Given the description of an element on the screen output the (x, y) to click on. 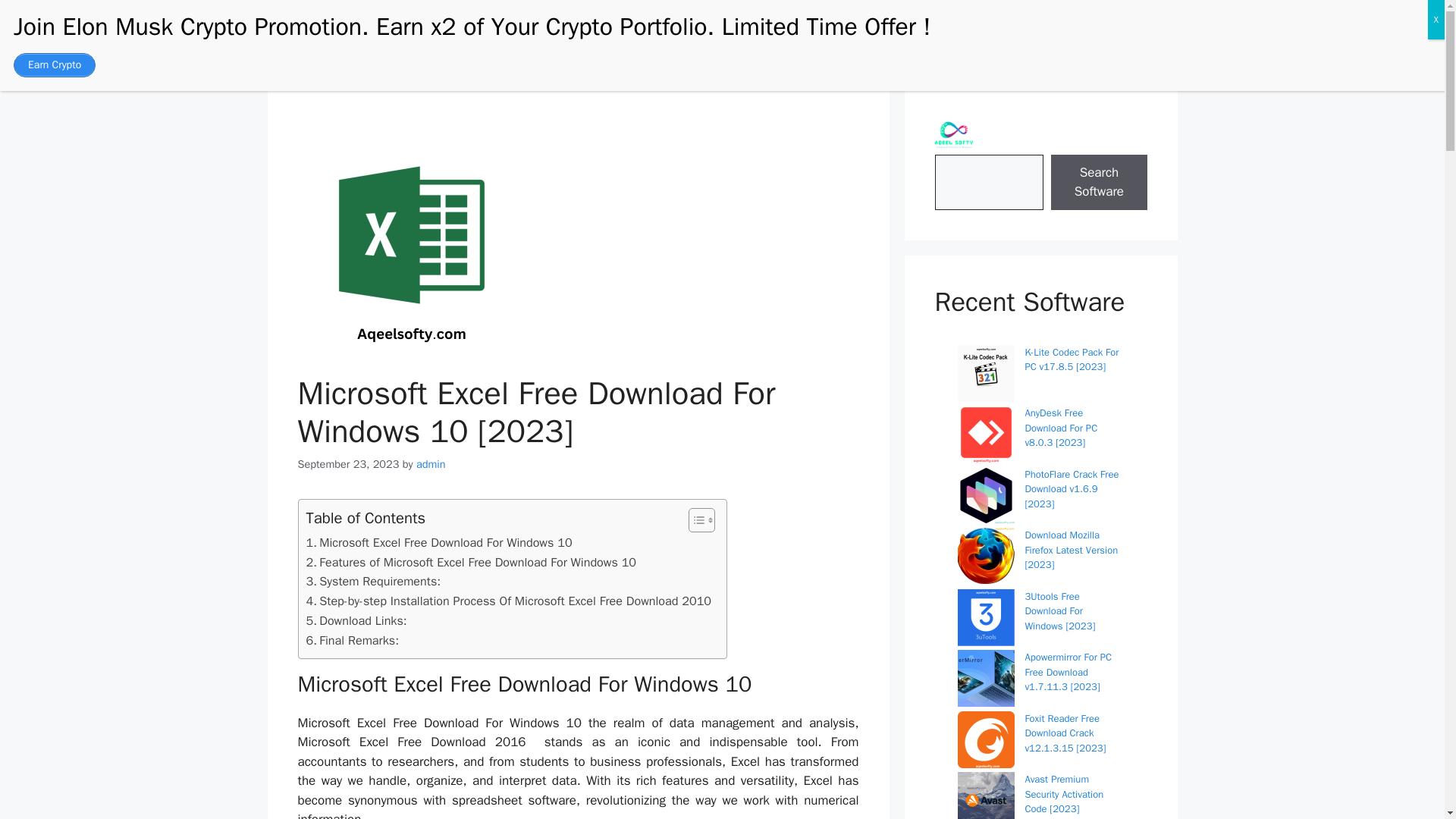
Microsoft Excel Free Download For Windows 10 (438, 542)
About Us (927, 37)
Download Links: (356, 620)
Final Remarks: (351, 640)
Final Remarks: (351, 640)
admin (430, 463)
Features of Microsoft Excel Free Download For Windows 10 (471, 562)
View all posts by admin (430, 463)
System Requirements: (373, 581)
Download Links: (356, 620)
Features of Microsoft Excel Free Download For Windows 10 (471, 562)
Privacy Policy (1014, 37)
System Requirements: (373, 581)
